Given the description of an element on the screen output the (x, y) to click on. 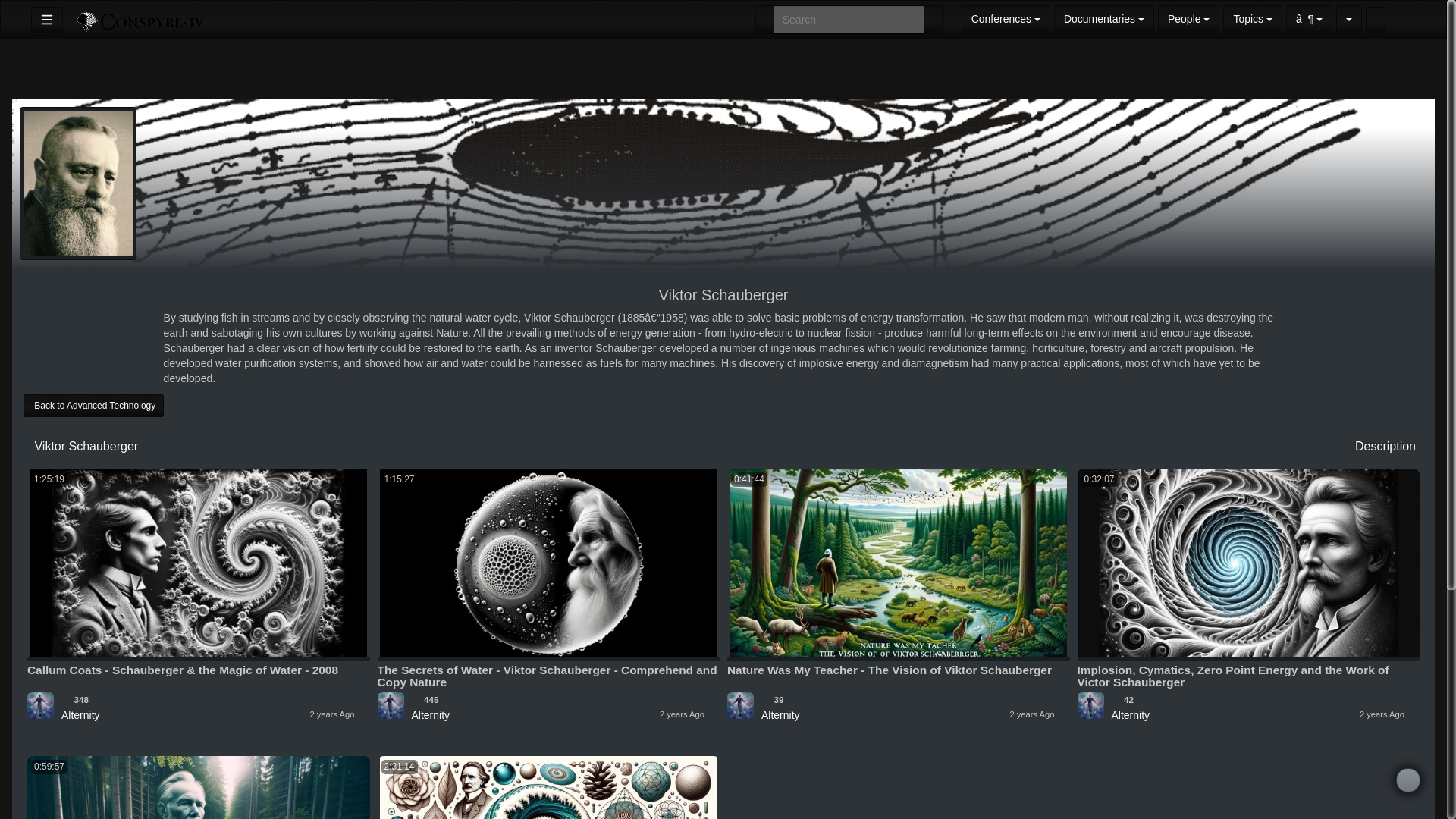
Main Menu (46, 19)
Conferences (1004, 19)
Conferences (1004, 19)
Login (1388, 19)
People (1188, 19)
Topics (1252, 19)
Documentaries (1104, 19)
Documentaries (1104, 19)
